Given the description of an element on the screen output the (x, y) to click on. 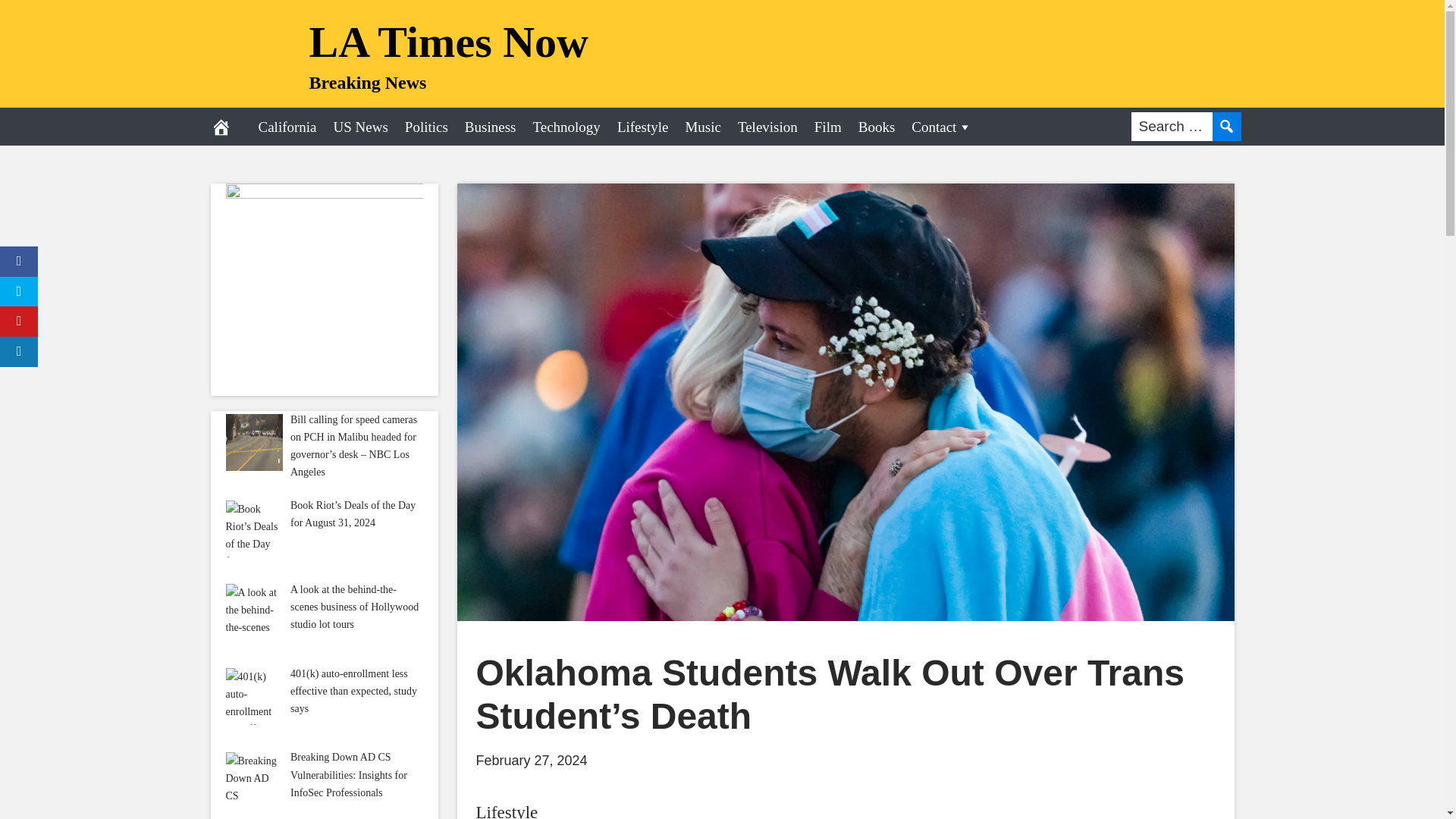
Lifestyle (642, 126)
Politics (426, 126)
Contact (940, 126)
Technology (566, 126)
Music (703, 126)
US News (360, 126)
California (287, 126)
Business (490, 126)
Books (877, 126)
Television (767, 126)
